Given the description of an element on the screen output the (x, y) to click on. 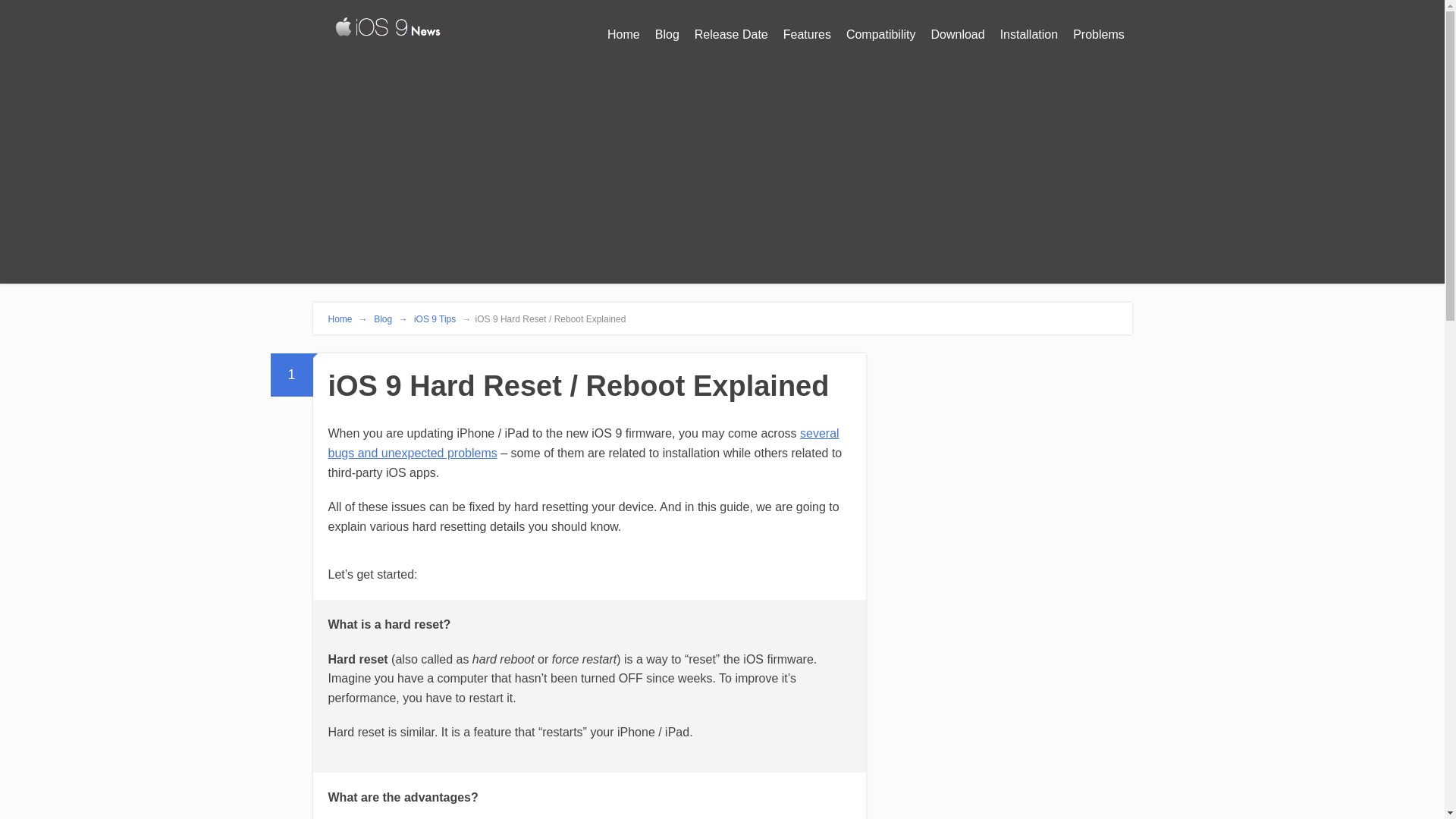
Release Date (731, 34)
Problems (1098, 34)
iOS 9 Tips (434, 318)
Blog (667, 34)
several bugs and unexpected problems (582, 442)
Installation (1028, 34)
Compatibility (880, 34)
Features (807, 34)
1 (291, 374)
Download (957, 34)
Home (623, 34)
